Given the description of an element on the screen output the (x, y) to click on. 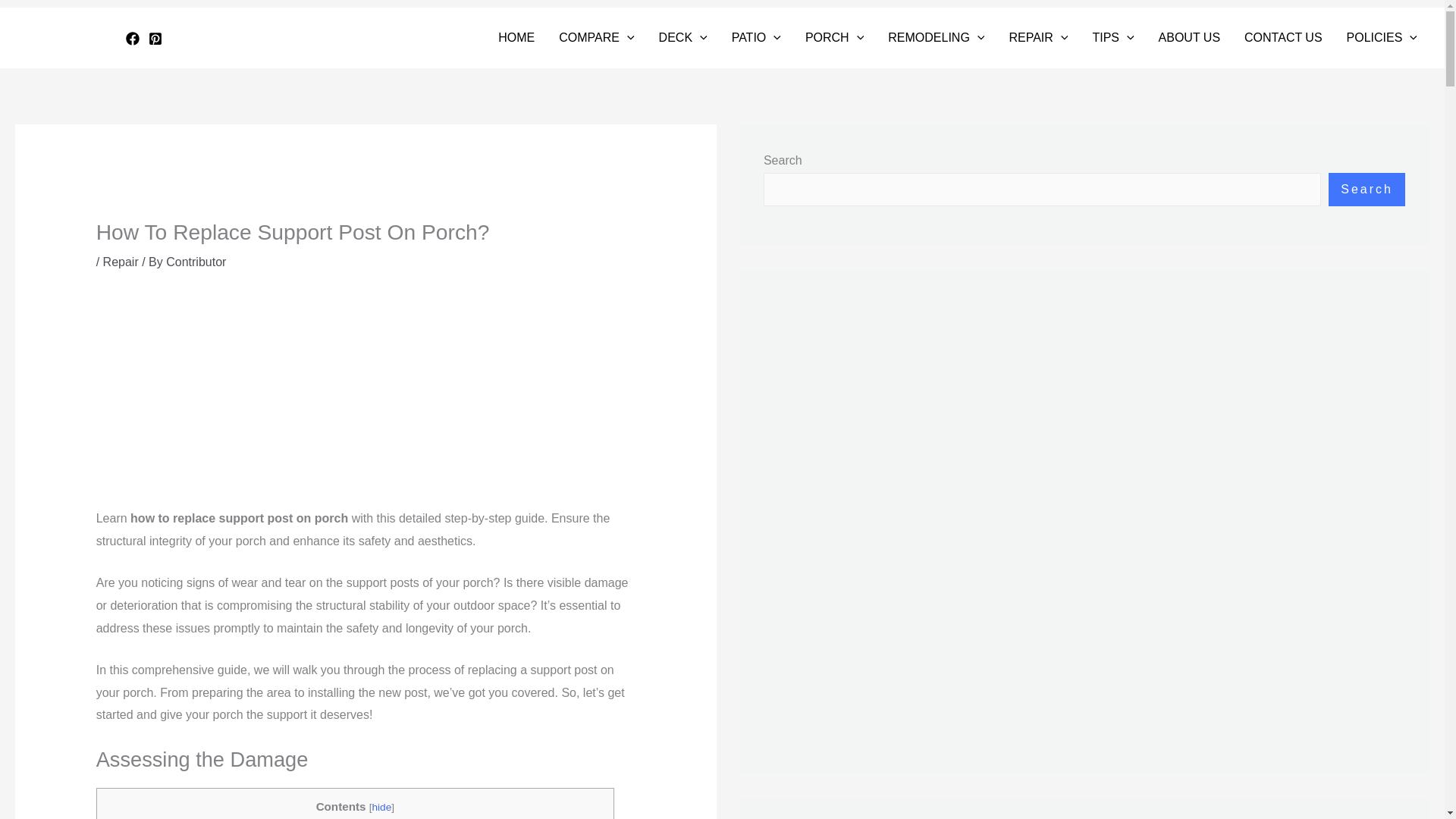
PATIO (756, 37)
REMODELING (935, 37)
View all posts by Contributor (195, 261)
HOME (516, 37)
DECK (682, 37)
COMPARE (596, 37)
PORCH (834, 37)
